Given the description of an element on the screen output the (x, y) to click on. 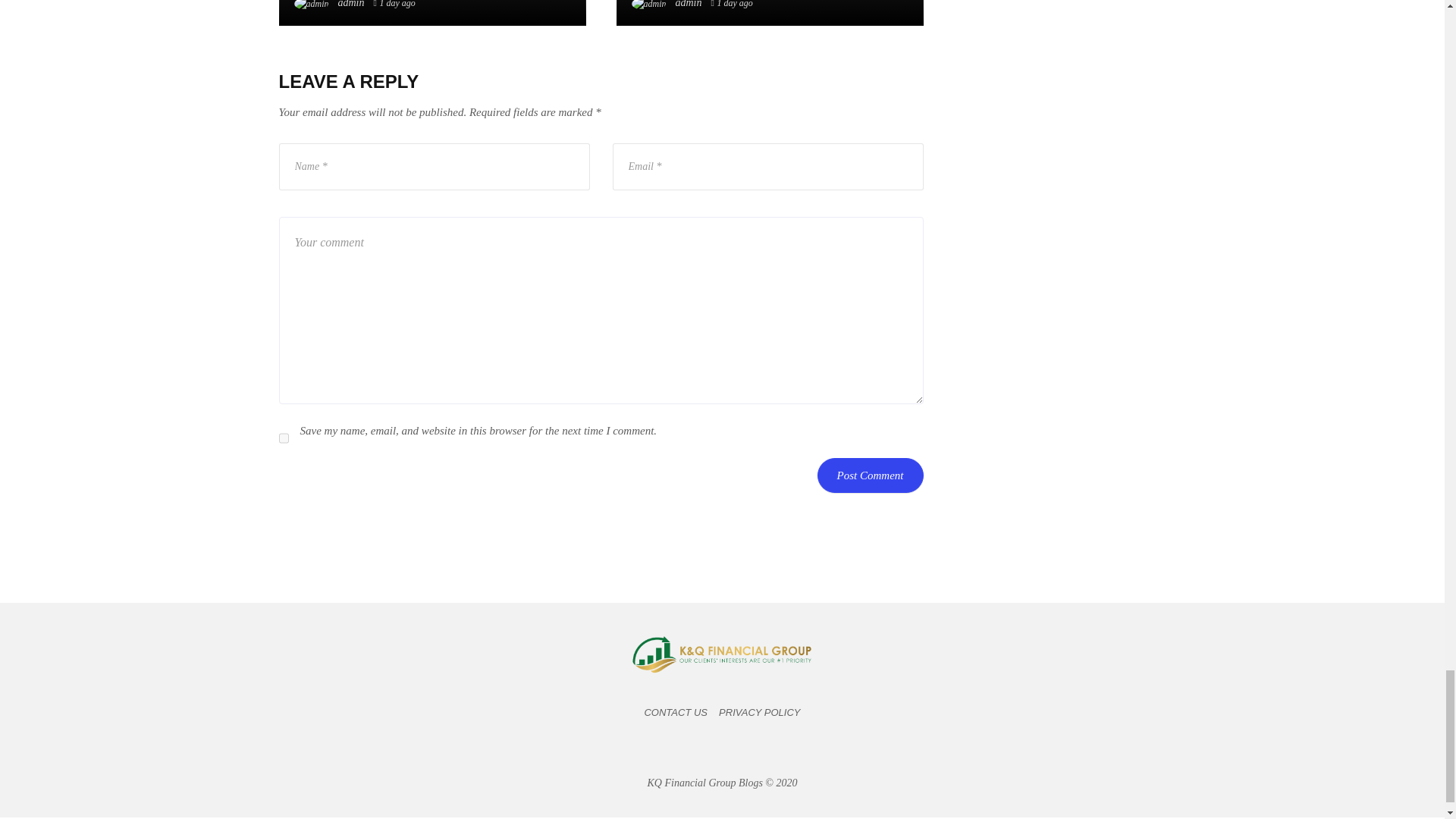
yes (283, 437)
Post Comment (869, 475)
